Given the description of an element on the screen output the (x, y) to click on. 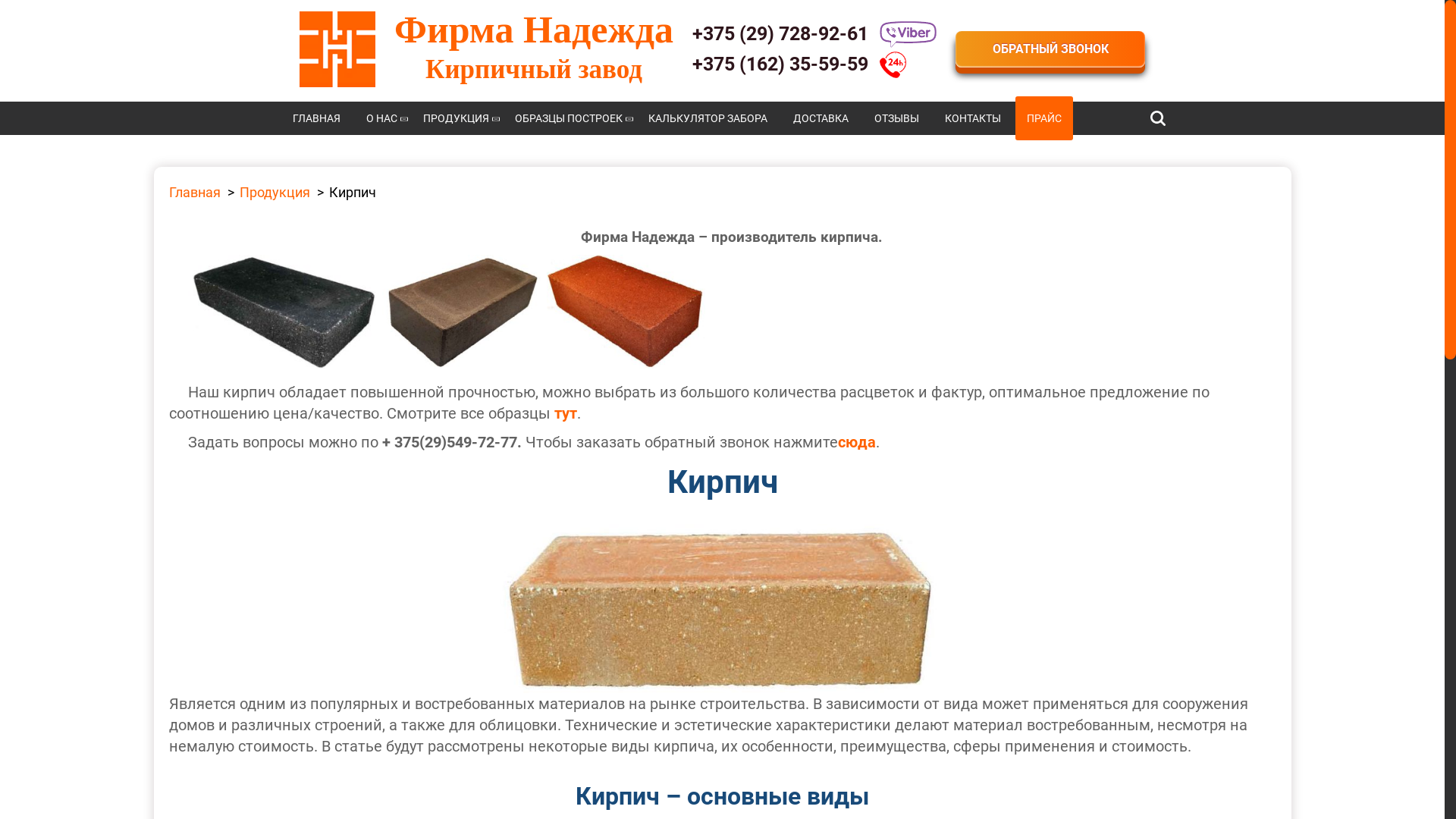
+375 (162) 35-59-59 Element type: text (814, 64)
+375 (29) 728-92-61 Element type: text (814, 34)
